Given the description of an element on the screen output the (x, y) to click on. 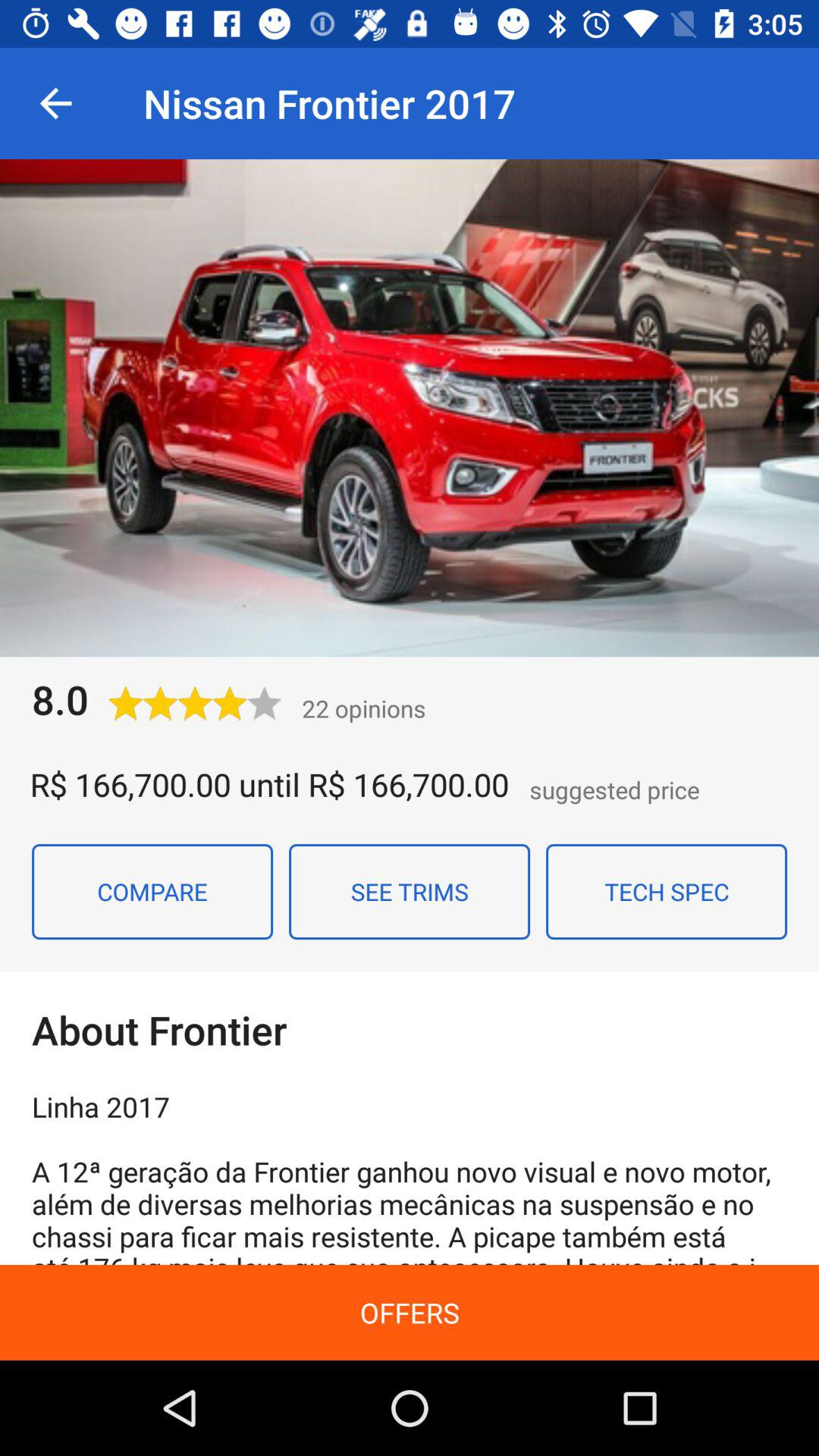
click item below the suggested price icon (666, 891)
